Given the description of an element on the screen output the (x, y) to click on. 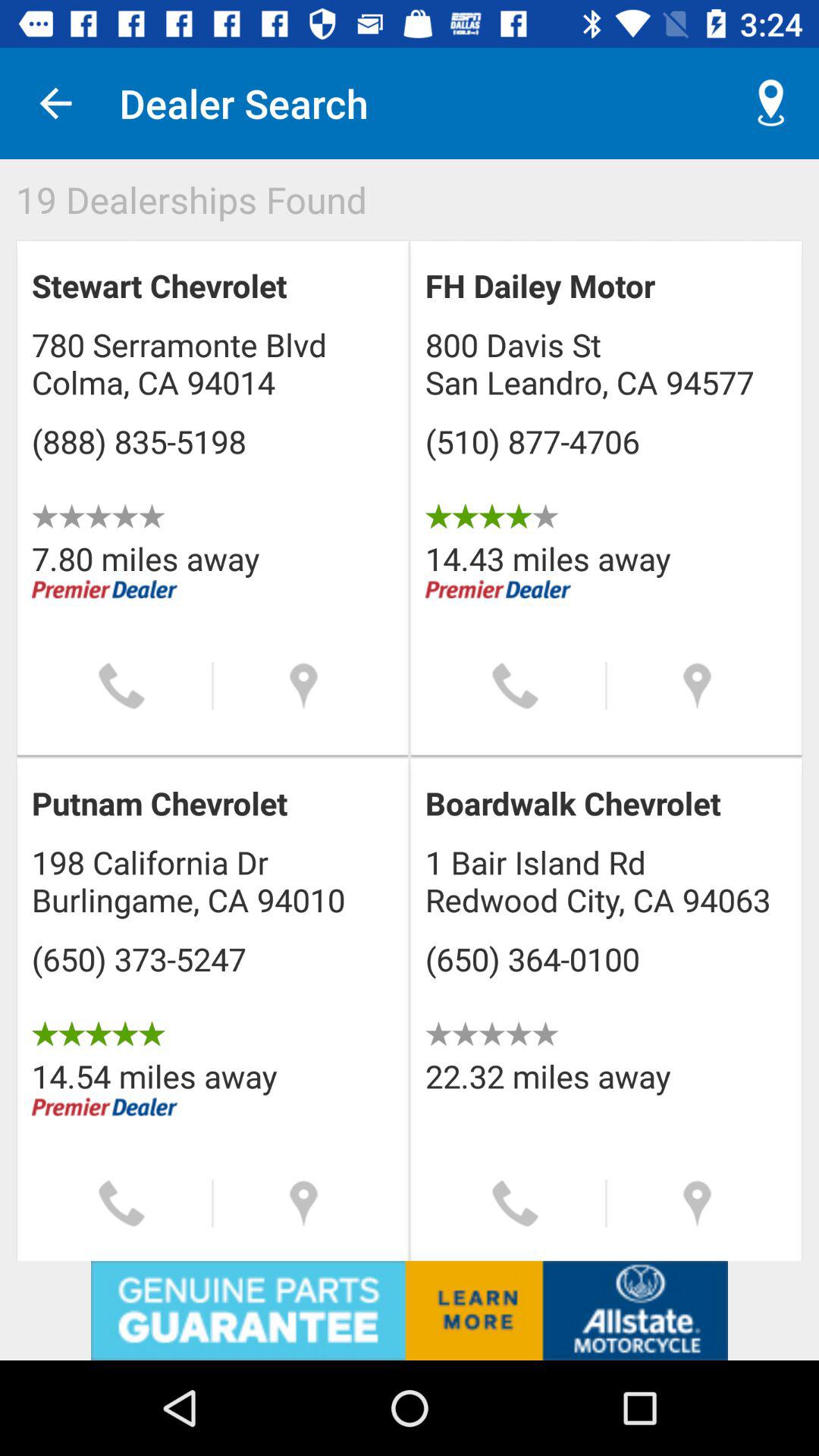
view on map (303, 1203)
